Given the description of an element on the screen output the (x, y) to click on. 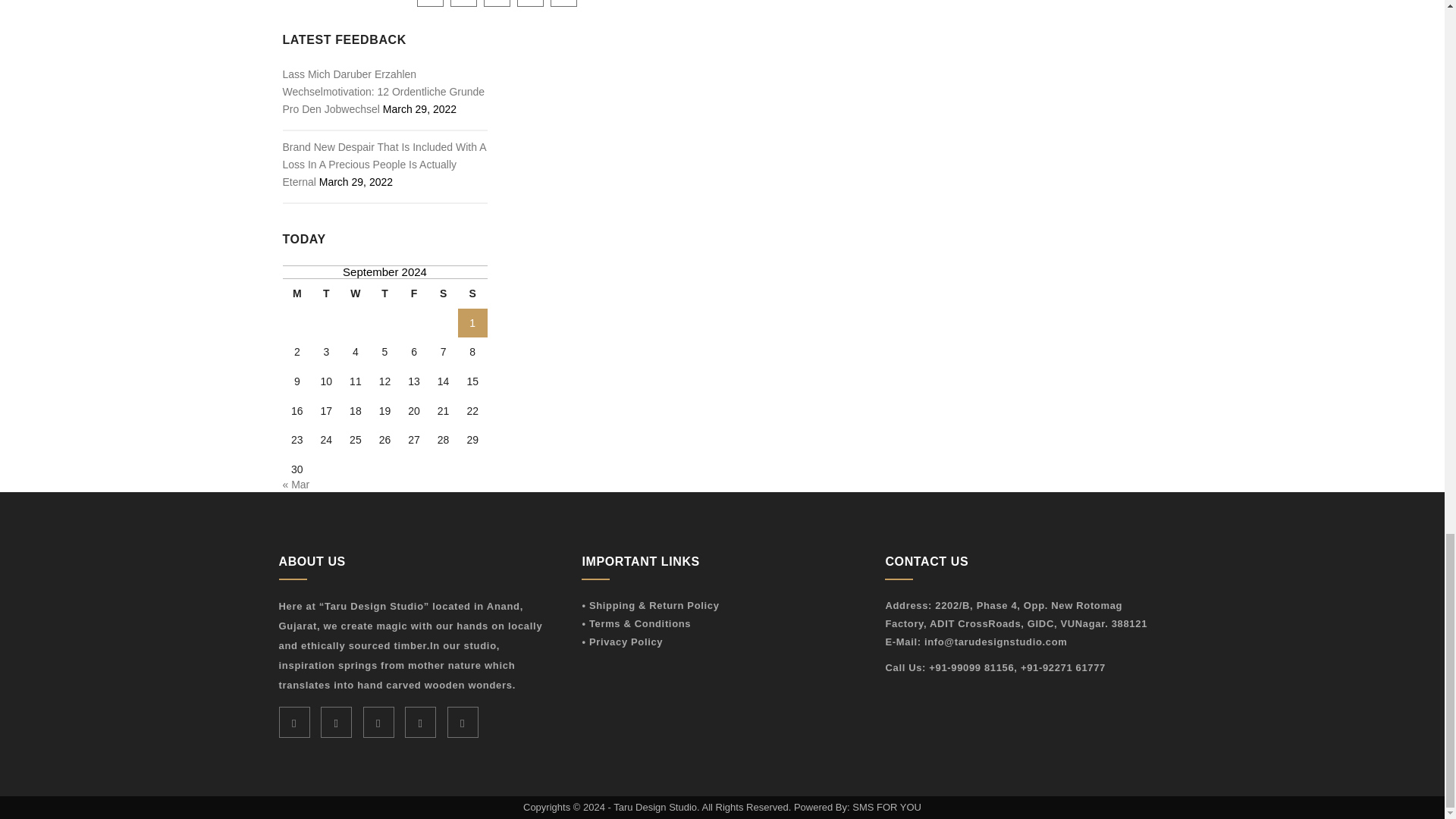
Thursday (383, 293)
Friday (413, 293)
Saturday (443, 293)
Monday (296, 293)
Sunday (472, 293)
Wednesday (355, 293)
Tuesday (325, 293)
